Given the description of an element on the screen output the (x, y) to click on. 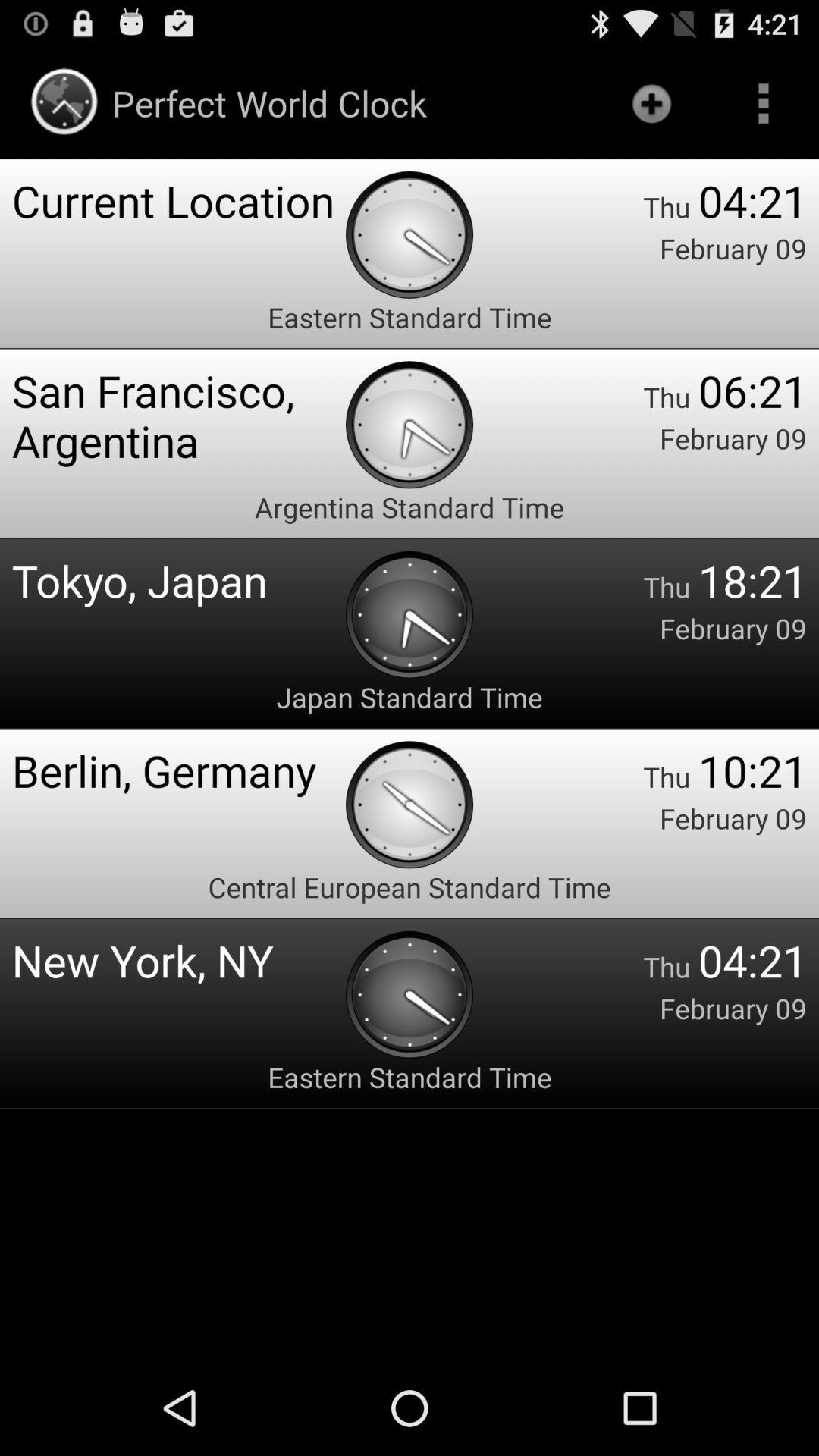
tap new york, ny item (178, 960)
